Given the description of an element on the screen output the (x, y) to click on. 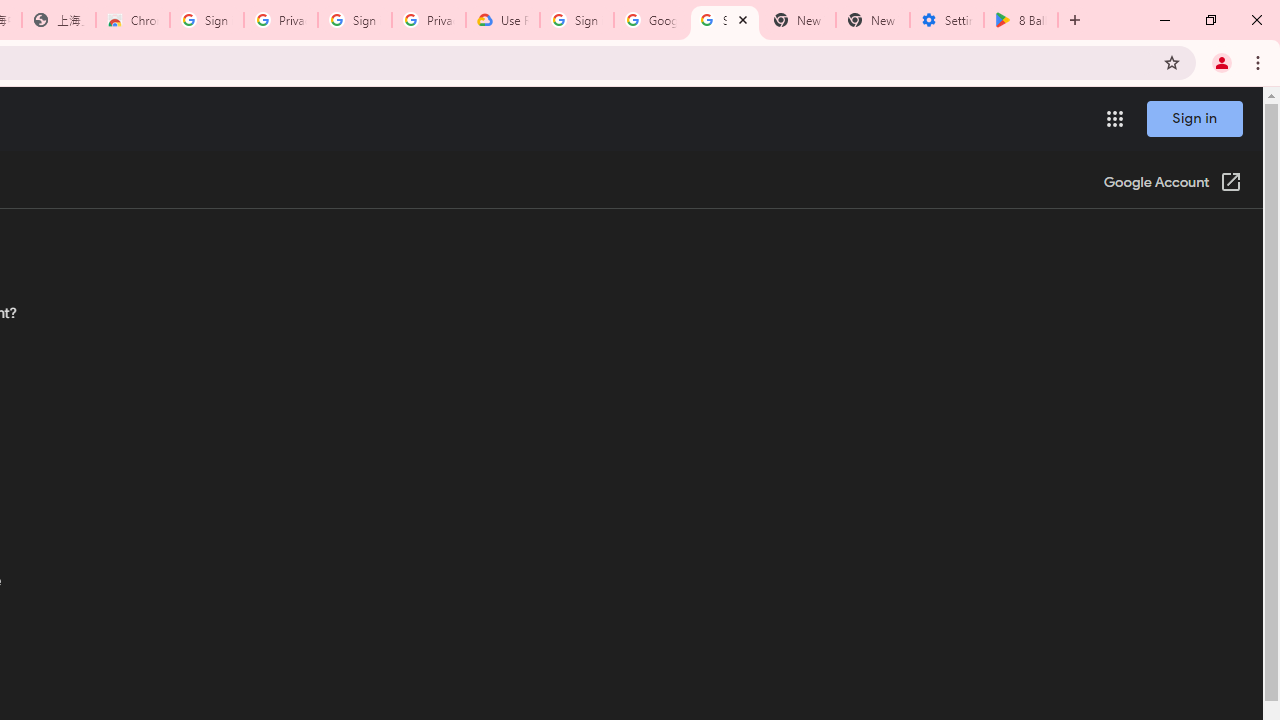
New Tab (872, 20)
Google apps (1114, 118)
Google Account Help (651, 20)
8 Ball Pool - Apps on Google Play (1021, 20)
Sign in - Google Accounts (354, 20)
